Given the description of an element on the screen output the (x, y) to click on. 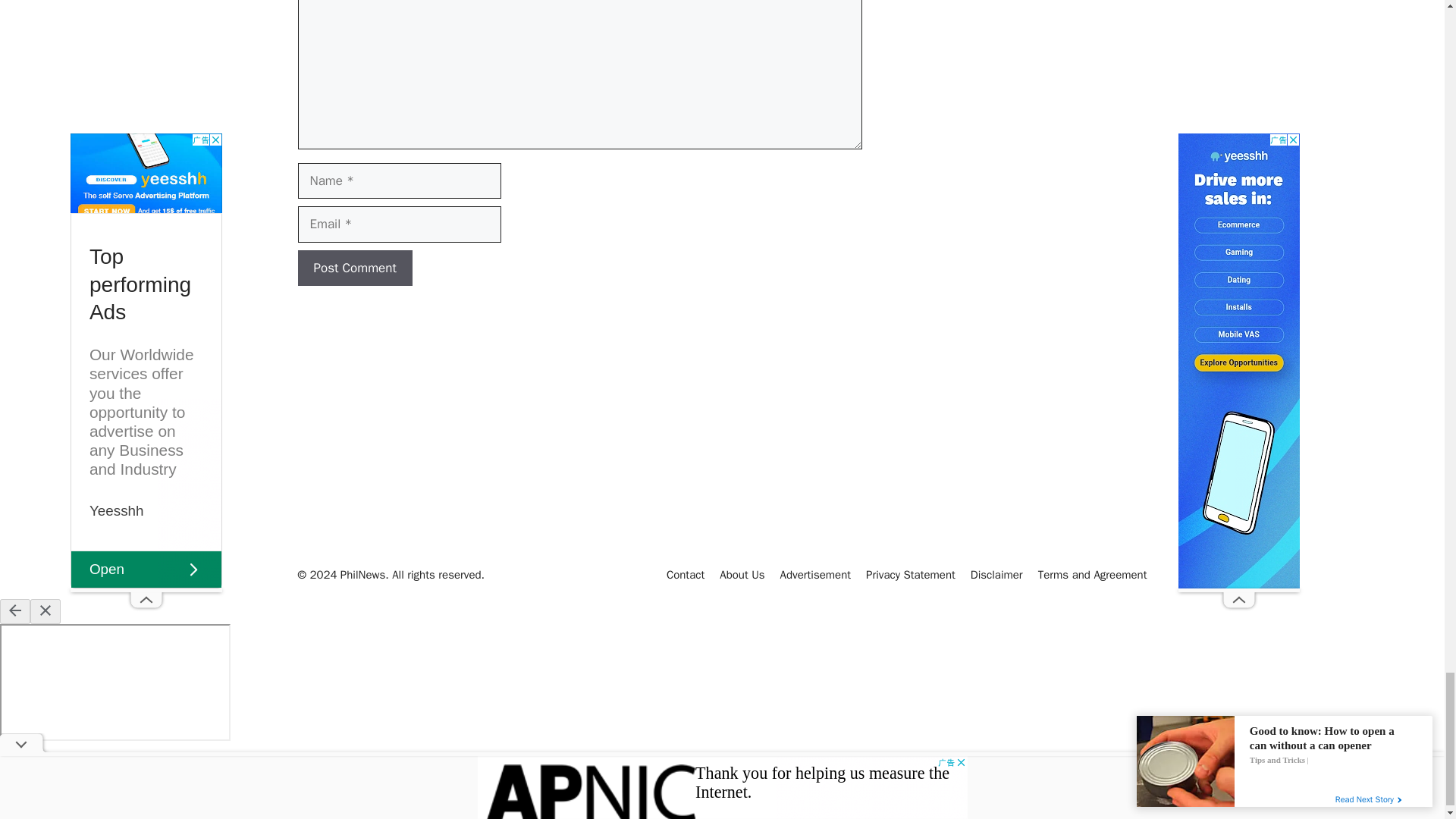
Post Comment (354, 268)
